Given the description of an element on the screen output the (x, y) to click on. 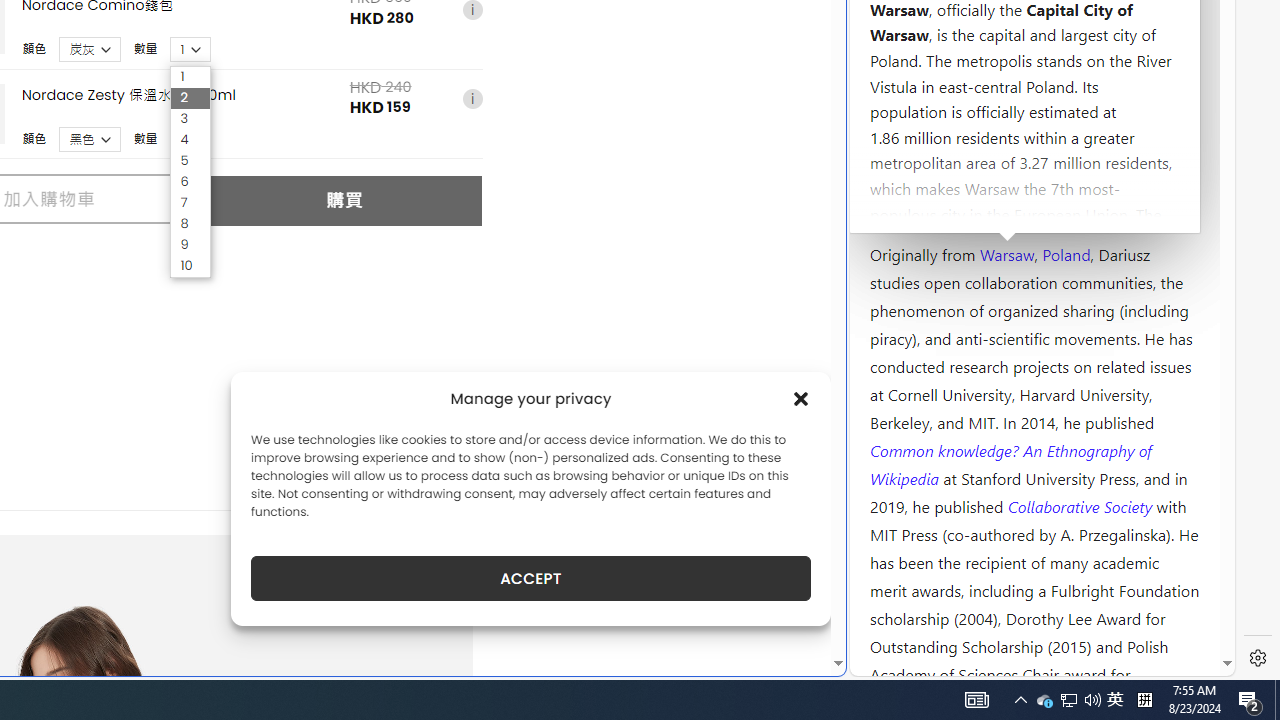
6 (190, 182)
4 (190, 140)
7 (190, 202)
Warsaw (1006, 253)
Poland (1065, 253)
Collaborative Society  (1082, 505)
